Given the description of an element on the screen output the (x, y) to click on. 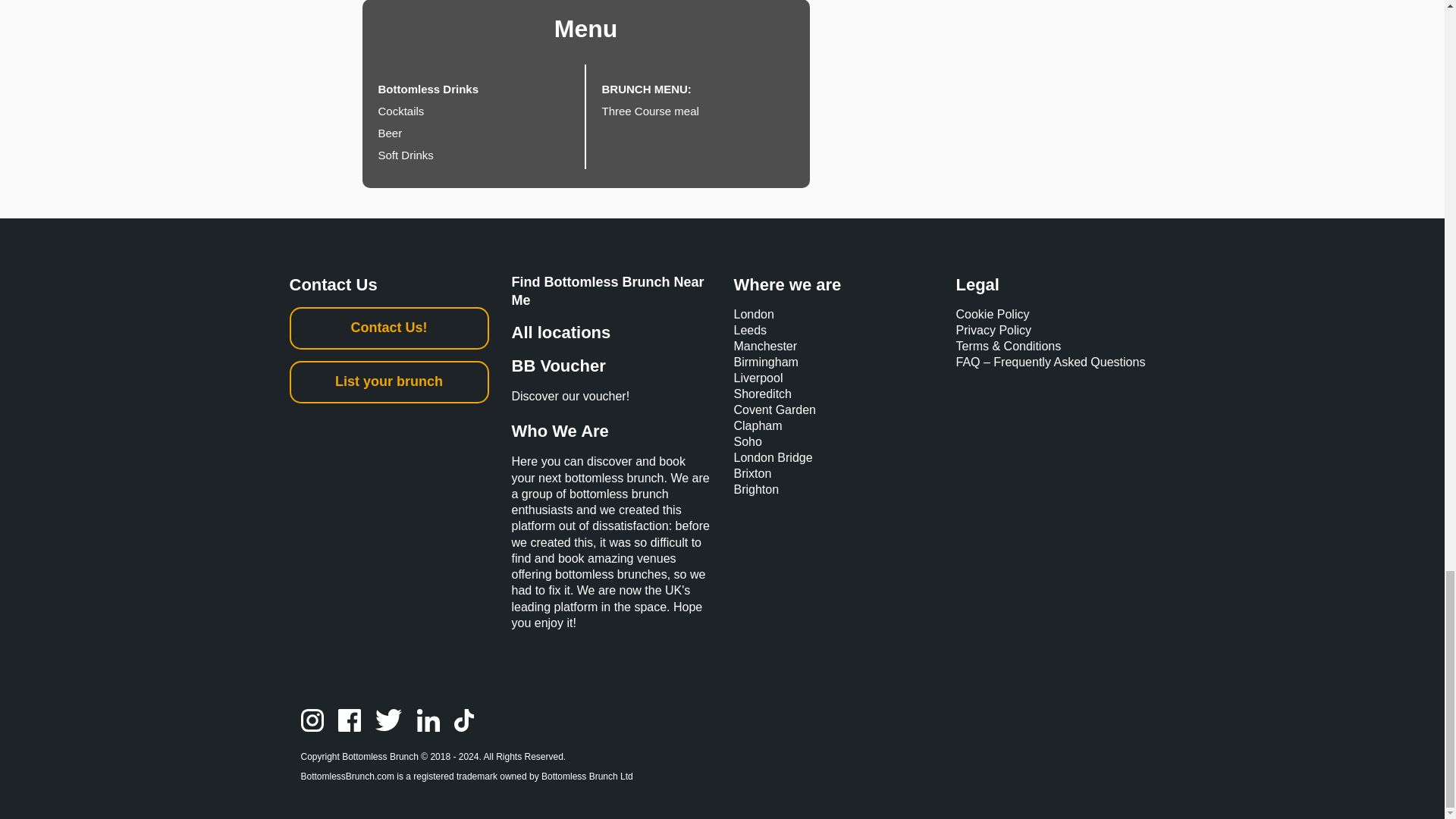
Contact Us! (389, 328)
Birmingham (765, 361)
Leeds (750, 329)
Soho (747, 440)
Discover our voucher! (610, 402)
Find Bottomless Brunch Near Me (607, 290)
Brixton (752, 472)
List your brunch (389, 382)
Covent Garden (774, 409)
Manchester (765, 345)
